Given the description of an element on the screen output the (x, y) to click on. 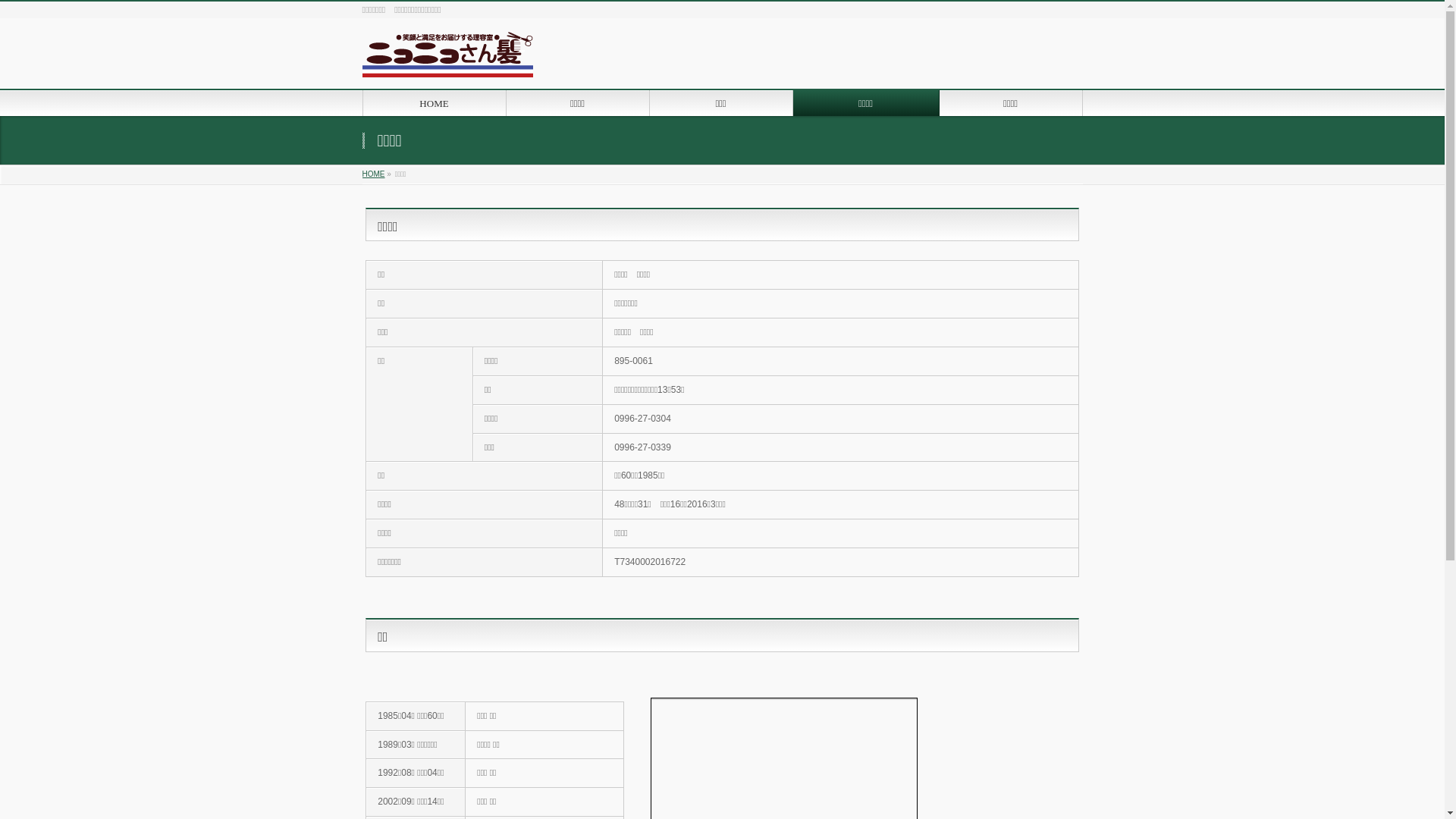
HOME Element type: text (433, 103)
HOME Element type: text (373, 173)
